Given the description of an element on the screen output the (x, y) to click on. 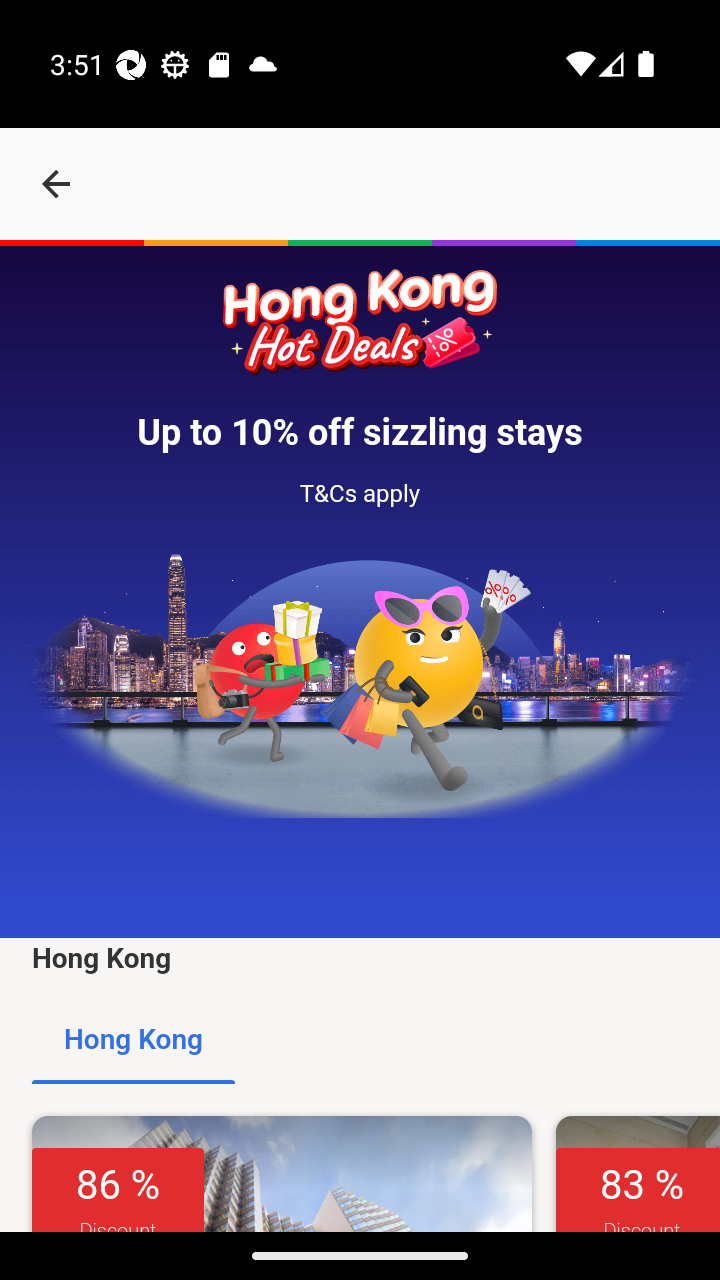
navigation_button (56, 184)
Hong Kong (134, 1039)
